Given the description of an element on the screen output the (x, y) to click on. 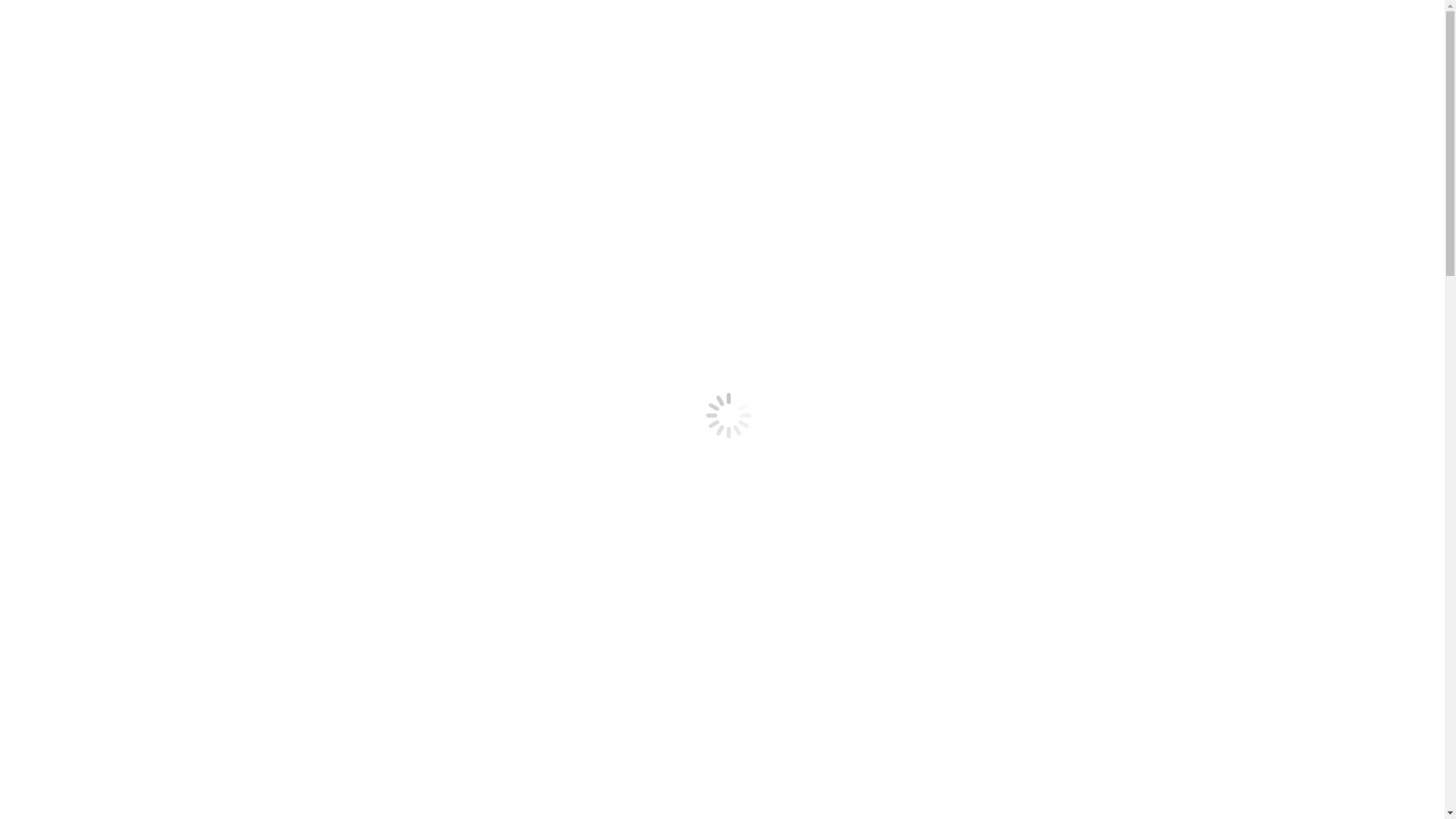
Menukaart Element type: text (62, 131)
Naar Menukaart Element type: text (45, 429)
Contact Element type: text (55, 145)
Menukaart Element type: text (62, 78)
Kaasschotels en buffetten Element type: text (98, 390)
Home Element type: text (50, 65)
Home Element type: text (50, 118)
Salades en belegde broodjes Element type: text (104, 376)
Spring naar content Element type: text (5, 5)
Hapjes & Bijgerechten Element type: text (91, 349)
Feest! Element type: text (20, 713)
Desserts Element type: text (56, 404)
Contact Element type: text (55, 92)
